Given the description of an element on the screen output the (x, y) to click on. 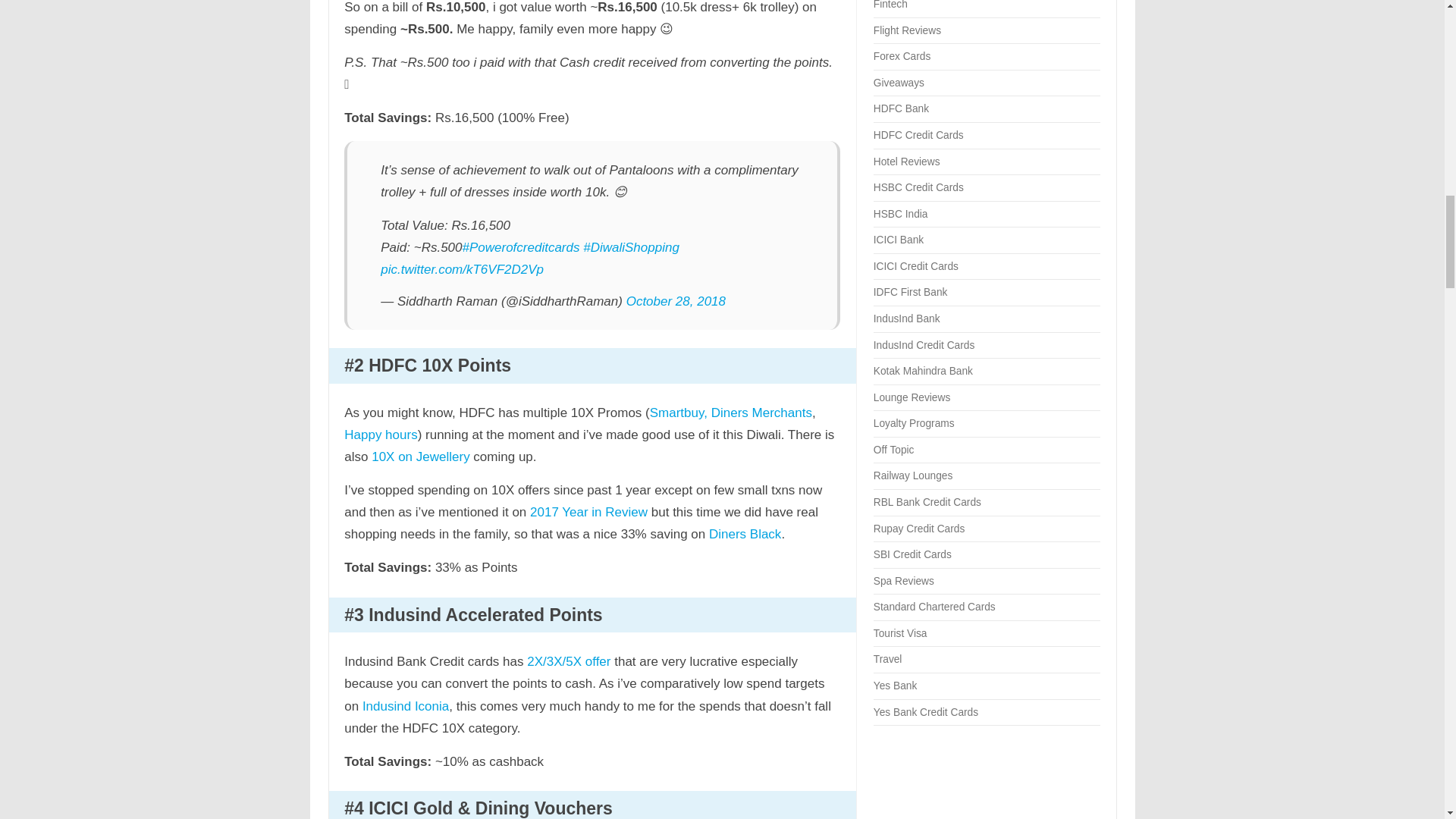
Indusind Iconia (405, 706)
2017 Year in Review (588, 512)
Smartbuy, Diners Merchants (730, 412)
Happy hours (379, 434)
10X on Jewellery (419, 456)
October 28, 2018 (675, 301)
Diners Black (744, 534)
